Given the description of an element on the screen output the (x, y) to click on. 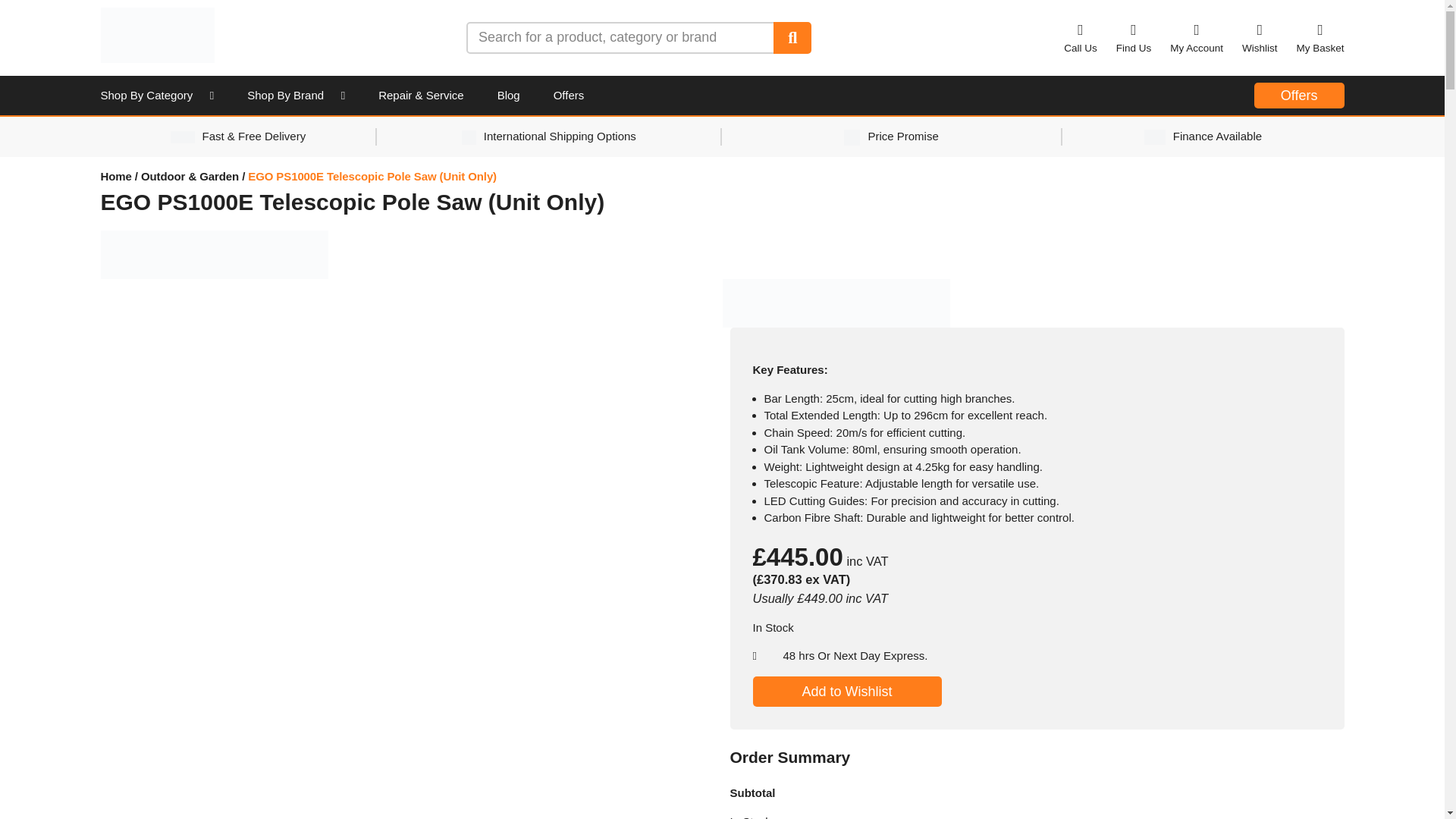
My Basket (1319, 37)
Find Us (1133, 37)
Search for: (620, 37)
Wishlist (1259, 37)
My Account (1196, 37)
